Given the description of an element on the screen output the (x, y) to click on. 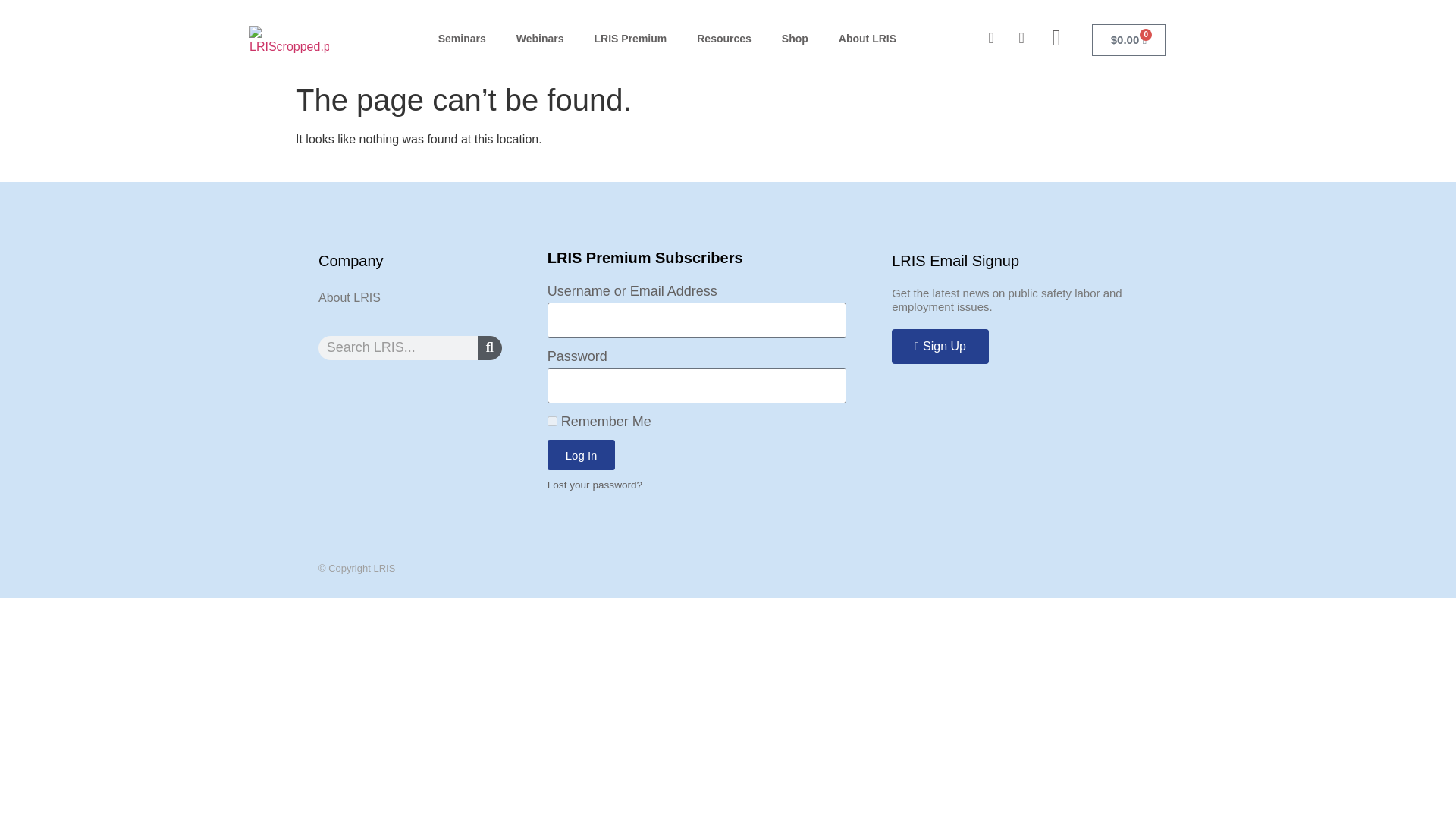
Resources (724, 38)
forever (552, 420)
Webinars (539, 38)
LRIS Premium (630, 38)
Shop (795, 38)
Seminars (461, 38)
About LRIS (867, 38)
LRIScropped.png (288, 40)
